Given the description of an element on the screen output the (x, y) to click on. 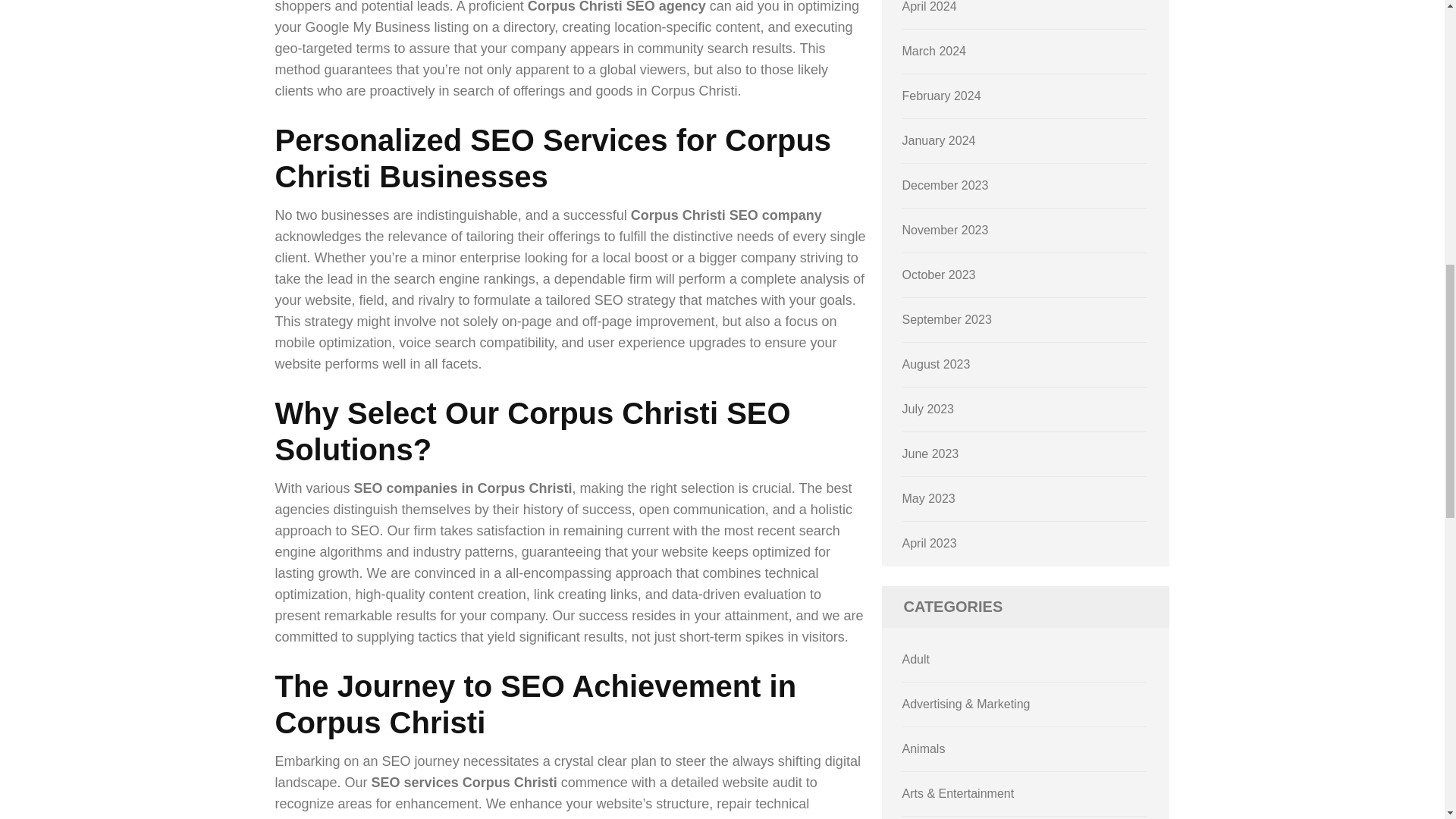
September 2023 (946, 318)
Adult (916, 658)
October 2023 (938, 274)
April 2024 (929, 6)
June 2023 (930, 453)
April 2023 (929, 543)
February 2024 (941, 95)
November 2023 (945, 229)
July 2023 (928, 408)
May 2023 (928, 498)
August 2023 (936, 364)
January 2024 (938, 140)
December 2023 (945, 185)
Animals (923, 748)
March 2024 (934, 51)
